Given the description of an element on the screen output the (x, y) to click on. 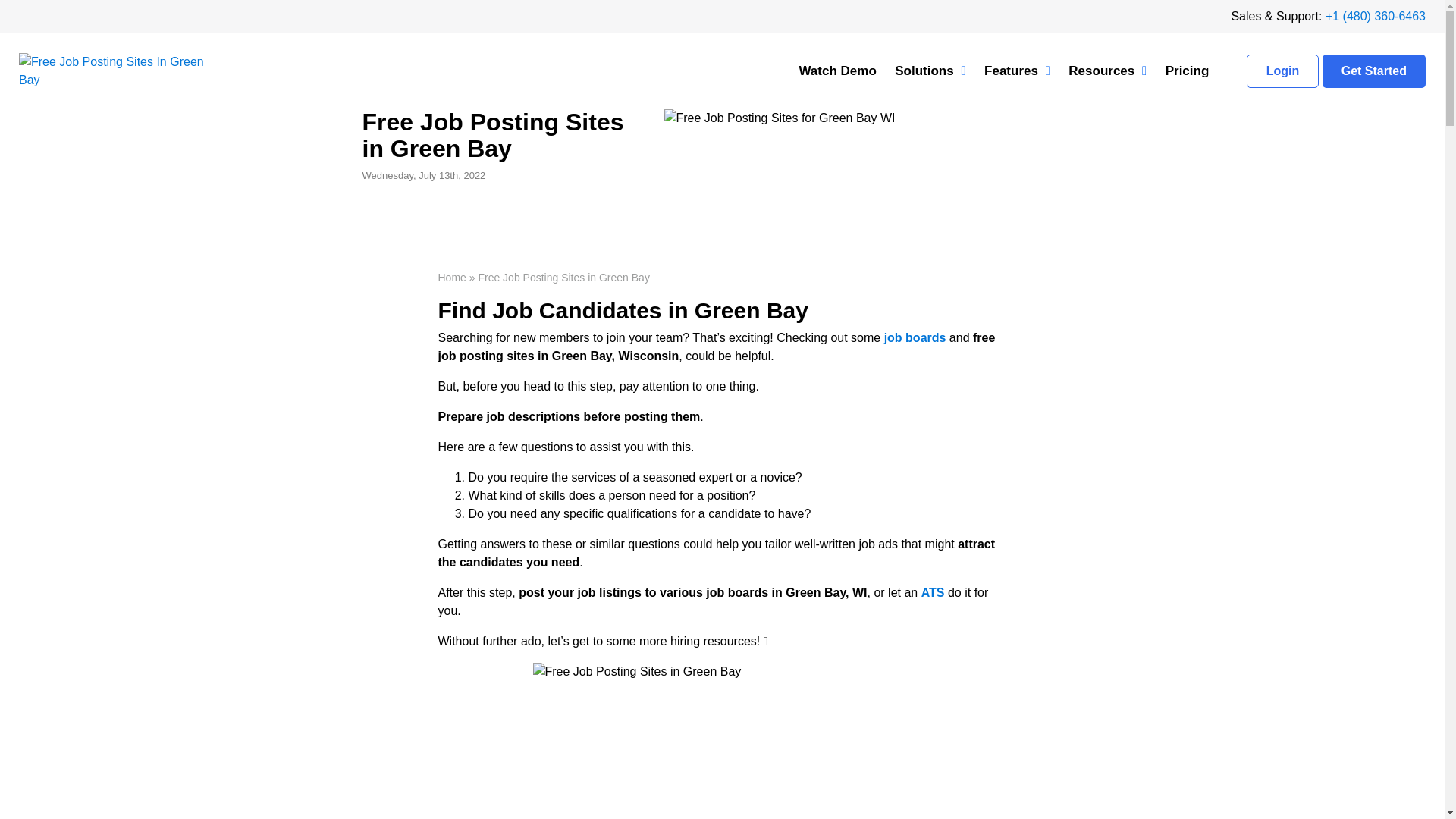
Resources (1107, 71)
Free Job Posting Sites For Green Bay Wi (779, 117)
Watch Demo (836, 71)
Free Job Posting Sites In Green Bay (113, 71)
Free Job Posting Sites In Green Bay (721, 740)
Solutions (929, 71)
Features (1017, 71)
